Given the description of an element on the screen output the (x, y) to click on. 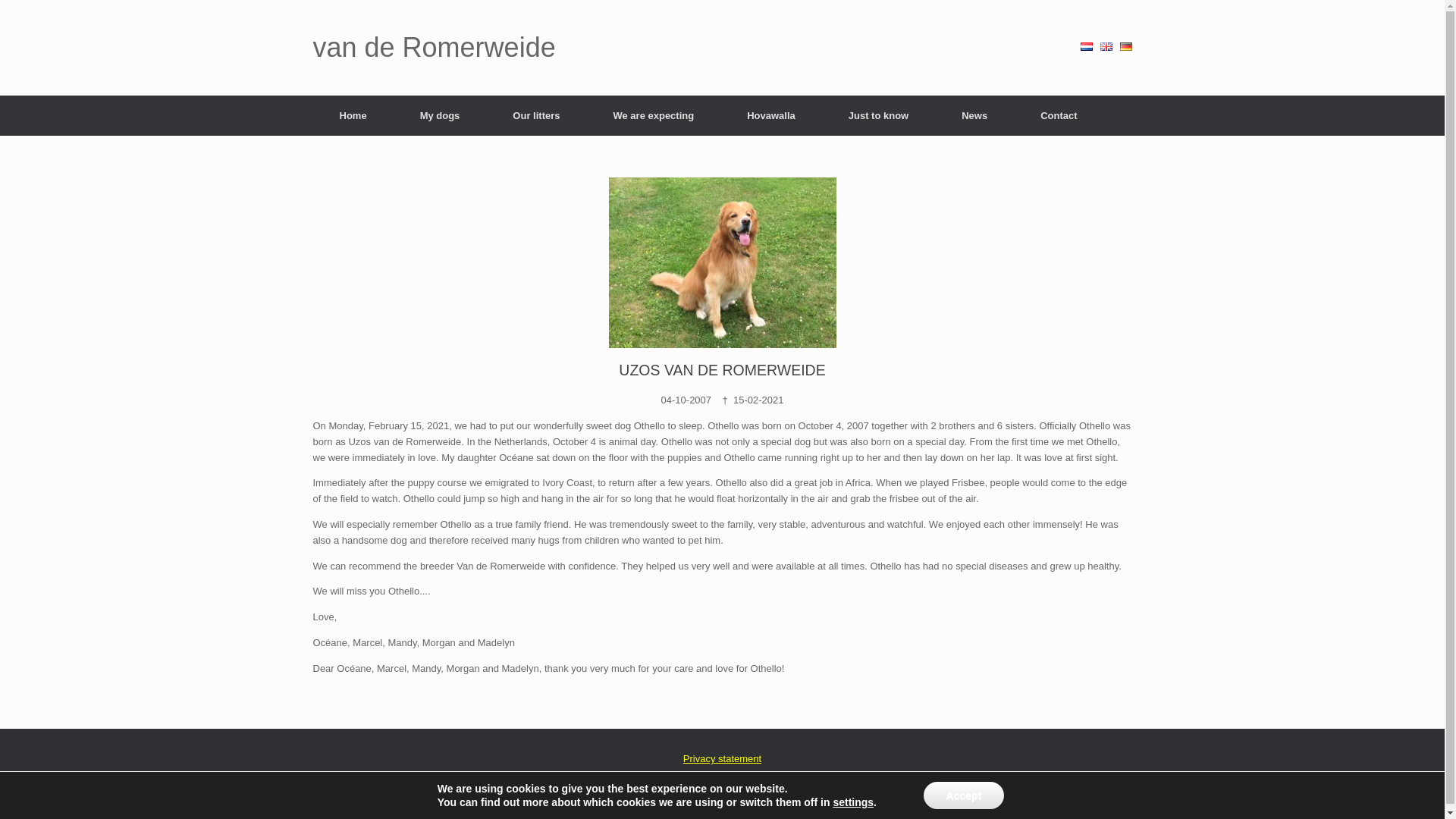
van de Romerweide (433, 47)
van de Romerweide (433, 47)
We are expecting (653, 115)
Accept (963, 795)
Privacy statement (721, 758)
Our litters (536, 115)
My dogs (439, 115)
Hovawalla (771, 115)
Just to know (878, 115)
Contact (1058, 115)
News (973, 115)
Home (353, 115)
